Given the description of an element on the screen output the (x, y) to click on. 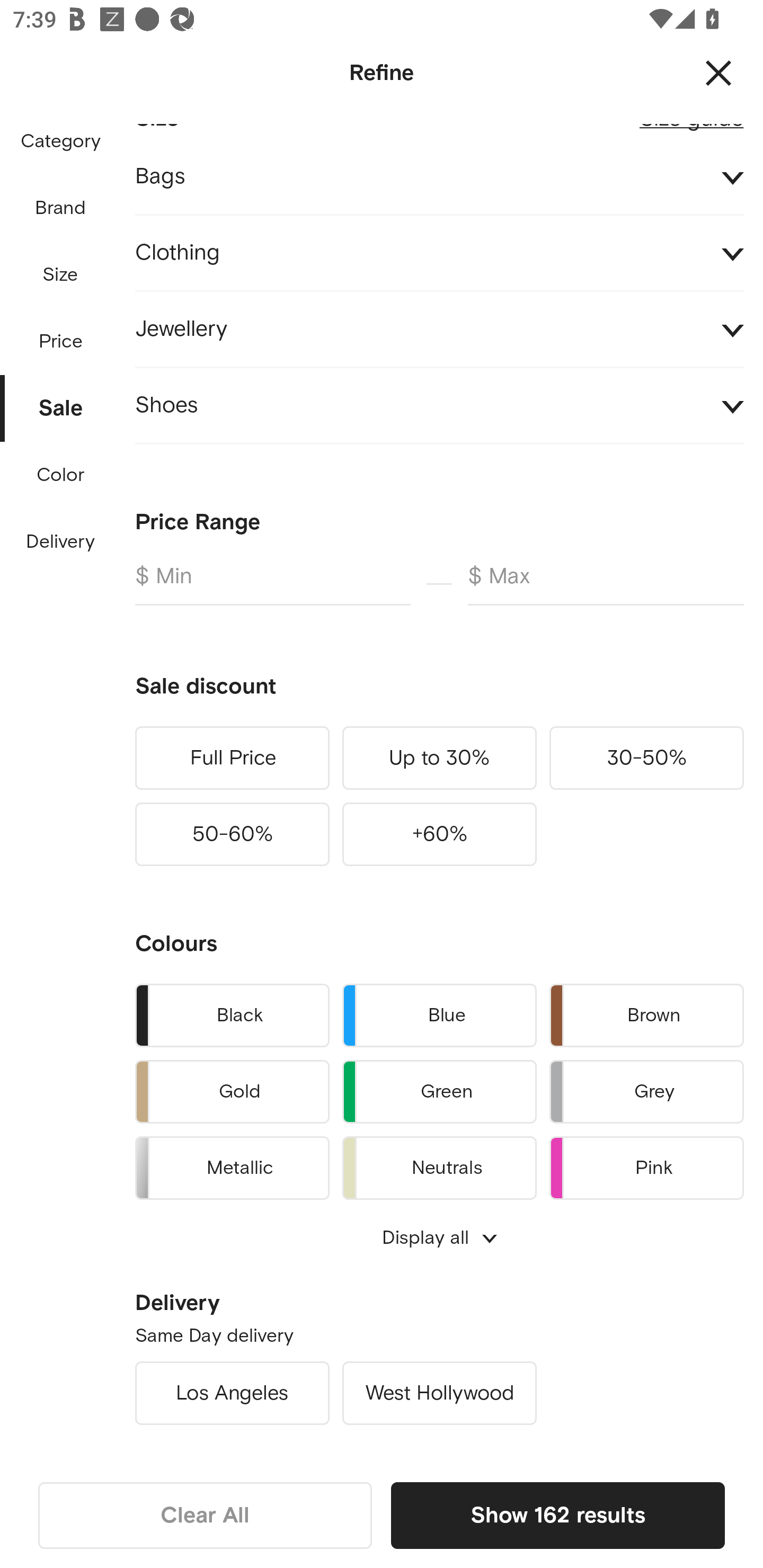
Category (60, 141)
Bags (439, 176)
Brand (60, 208)
Clothing (439, 252)
Size (60, 274)
Jewellery (439, 328)
Price (60, 337)
Shoes (439, 404)
Sale (60, 403)
Color (60, 475)
Delivery (60, 542)
$ Min (272, 583)
$ Max (605, 583)
Full Price (232, 757)
Up to 30% (439, 757)
30-50% (646, 757)
50-60% (232, 833)
+60% (439, 833)
Black (232, 1014)
Blue (439, 1014)
Brown (646, 1014)
Gold (232, 1091)
Green (439, 1091)
Grey (646, 1091)
Metallic (232, 1164)
Neutrals (439, 1164)
Pink (646, 1164)
Display all (439, 1237)
Los Angeles (232, 1392)
West Hollywood (439, 1392)
Clear All (205, 1515)
Show 162 results (557, 1515)
